Given the description of an element on the screen output the (x, y) to click on. 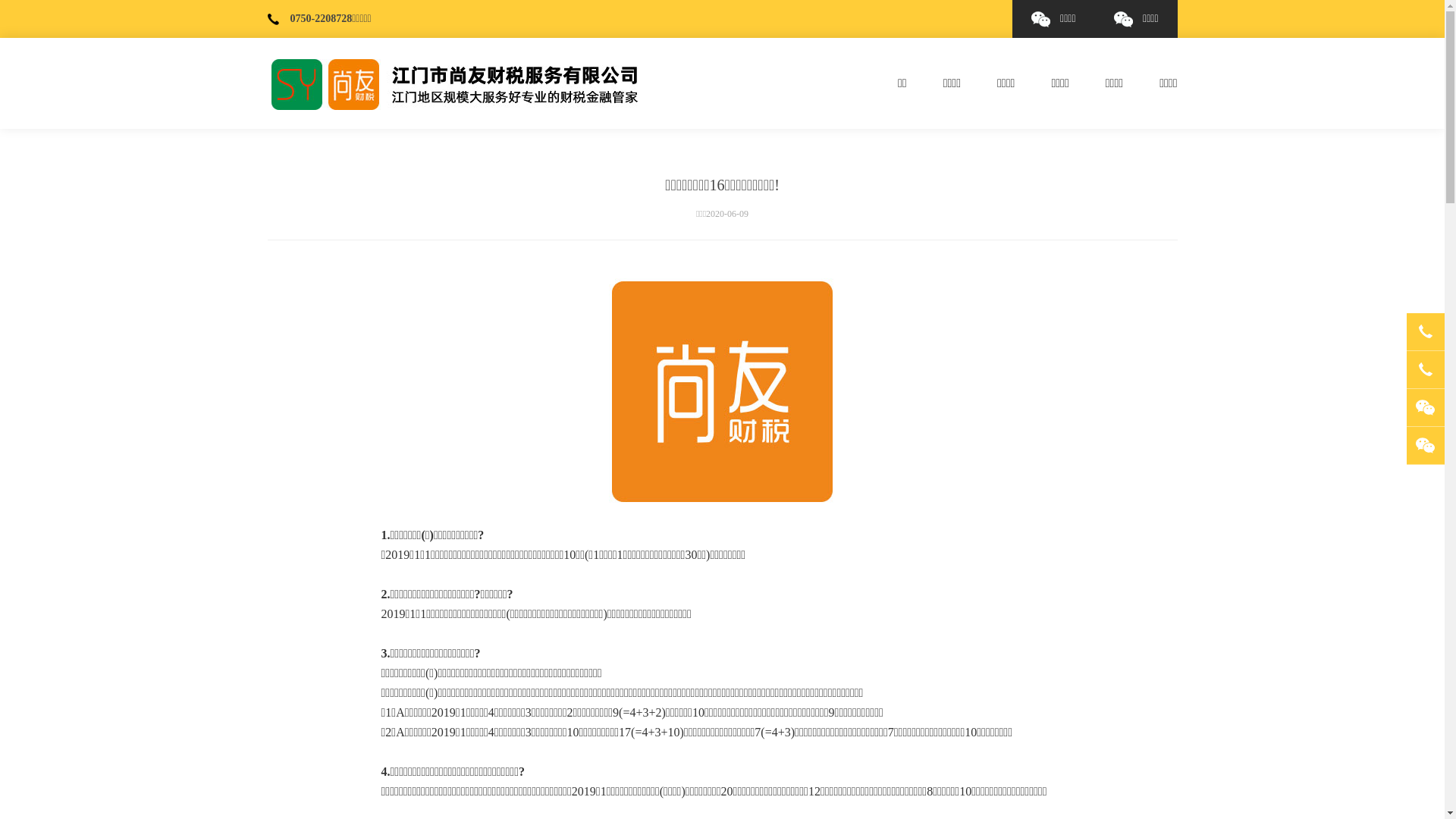
1591688946968125.jpg Element type: hover (721, 391)
